Given the description of an element on the screen output the (x, y) to click on. 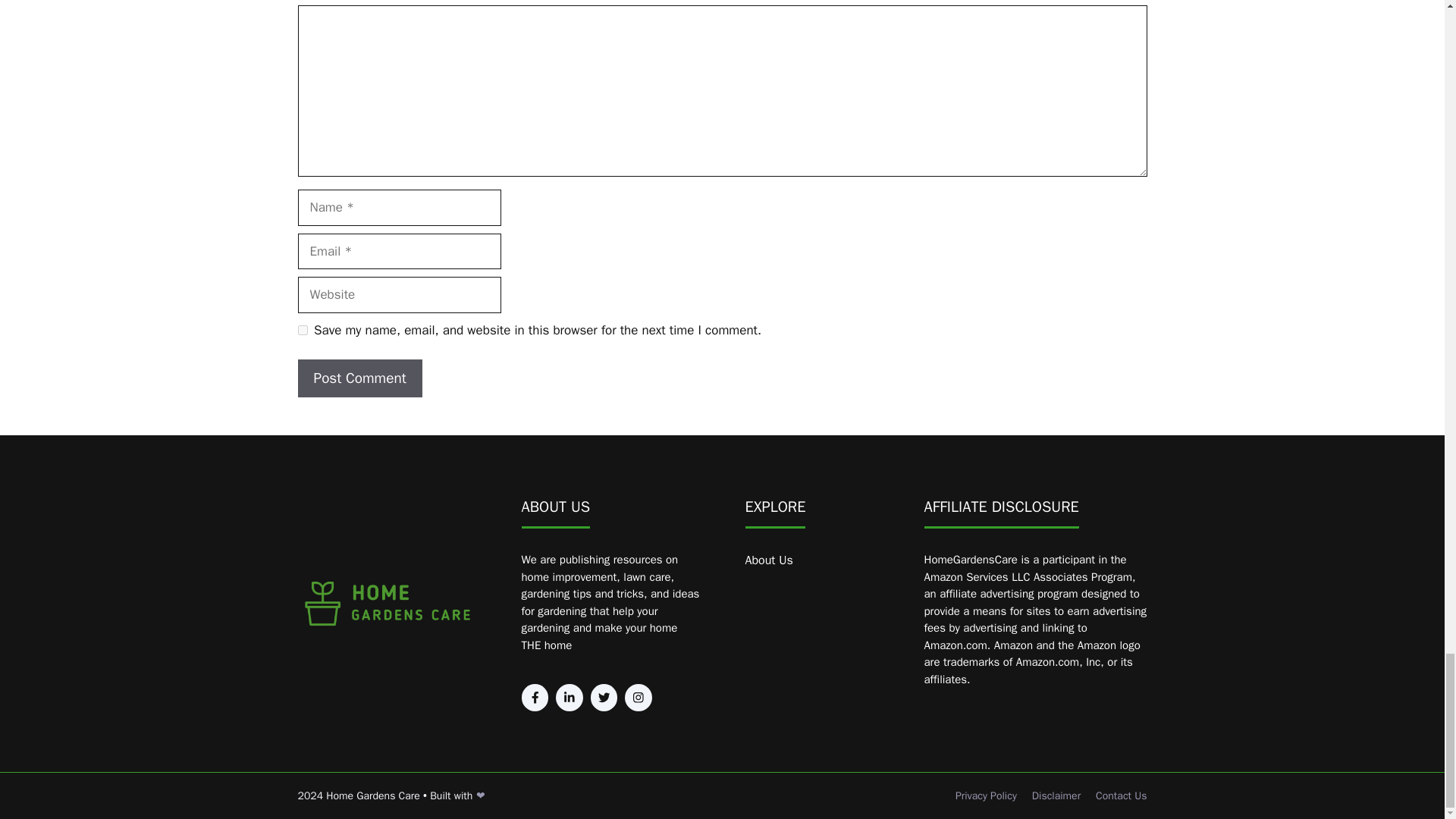
yes (302, 329)
Privacy Policy (985, 795)
Post Comment (359, 378)
About Us (768, 560)
Contact Us (1121, 795)
Post Comment (359, 378)
Disclaimer (1056, 795)
